Given the description of an element on the screen output the (x, y) to click on. 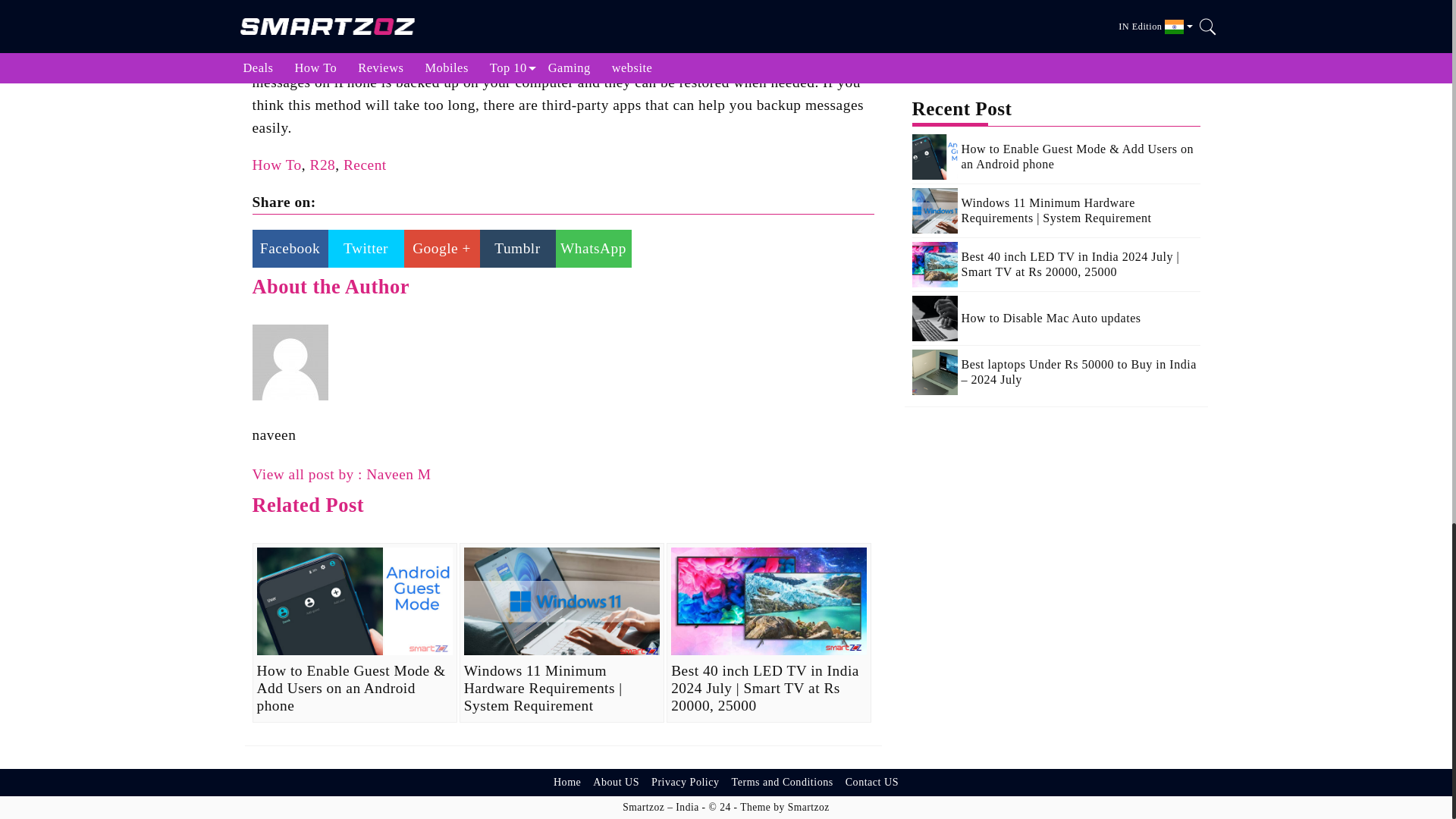
WhatsApp (592, 248)
Privacy Policy (685, 782)
Home (566, 782)
R28 (321, 164)
Tumblr (516, 248)
Twitter (365, 248)
About US (615, 782)
Facebook (289, 248)
View all post by : Naveen M (340, 474)
How To (276, 164)
Recent (365, 164)
Terms and Conditions (782, 782)
